Given the description of an element on the screen output the (x, y) to click on. 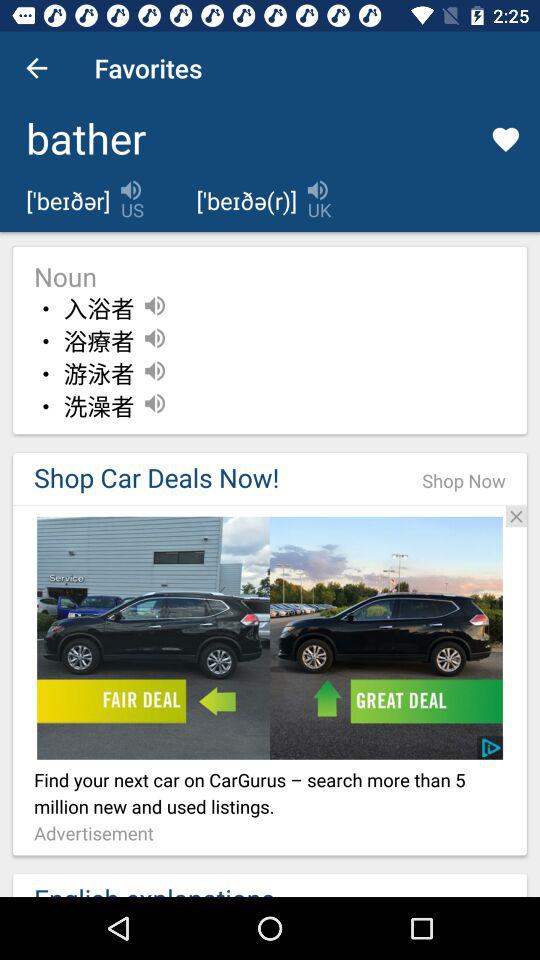
click advertisement (269, 505)
